Given the description of an element on the screen output the (x, y) to click on. 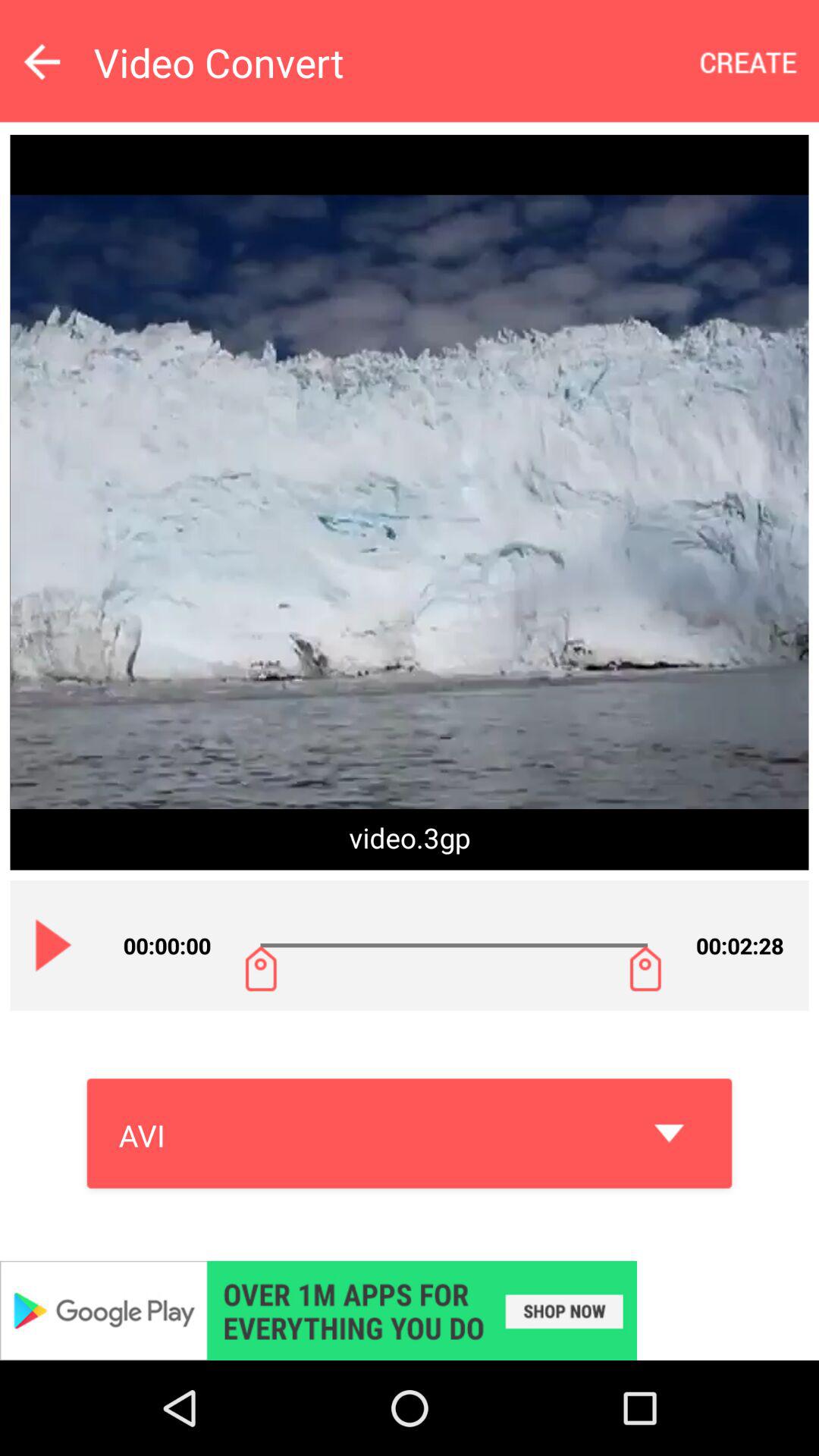
go back (41, 61)
